Given the description of an element on the screen output the (x, y) to click on. 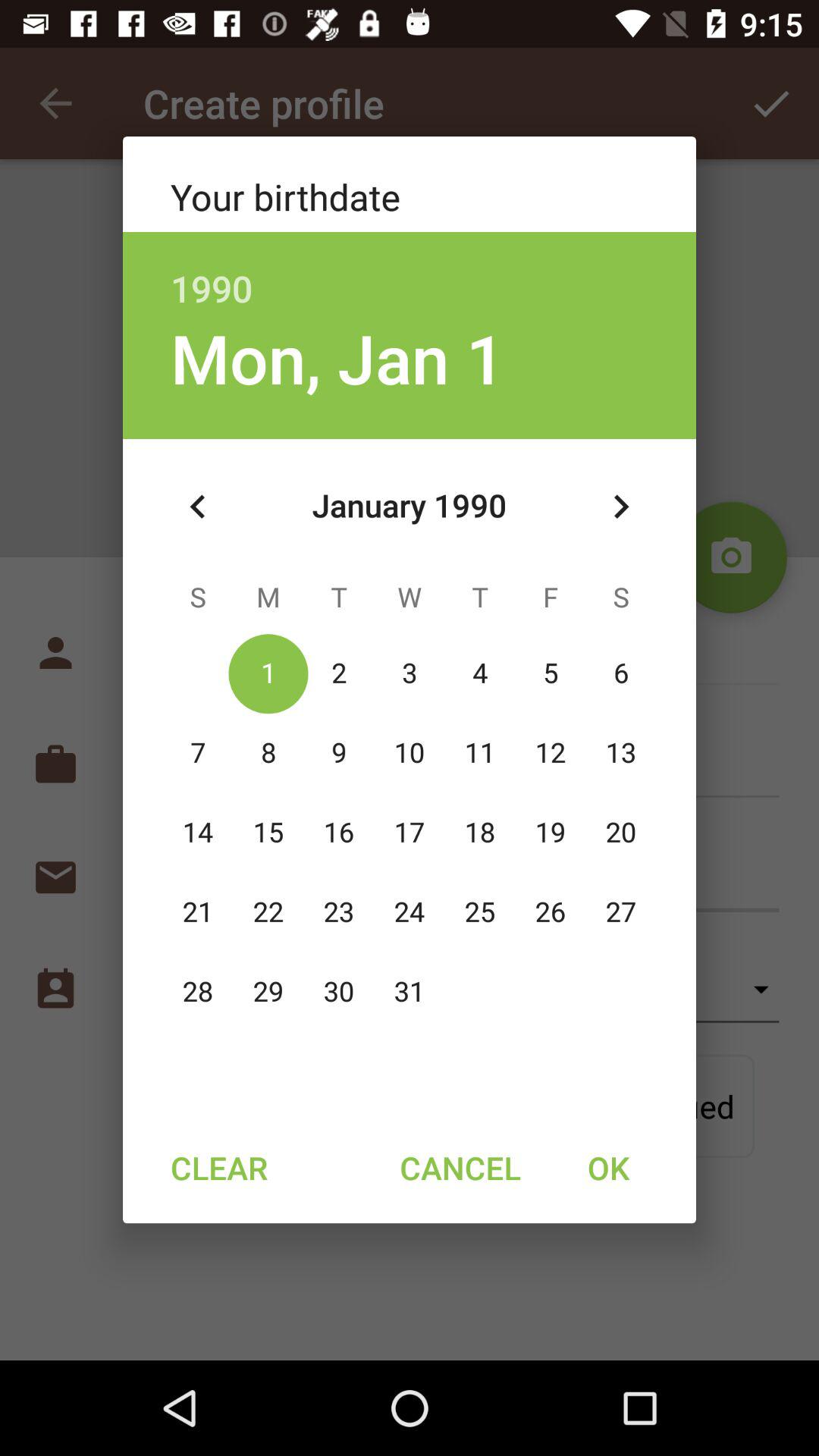
turn on icon next to the clear (459, 1167)
